Given the description of an element on the screen output the (x, y) to click on. 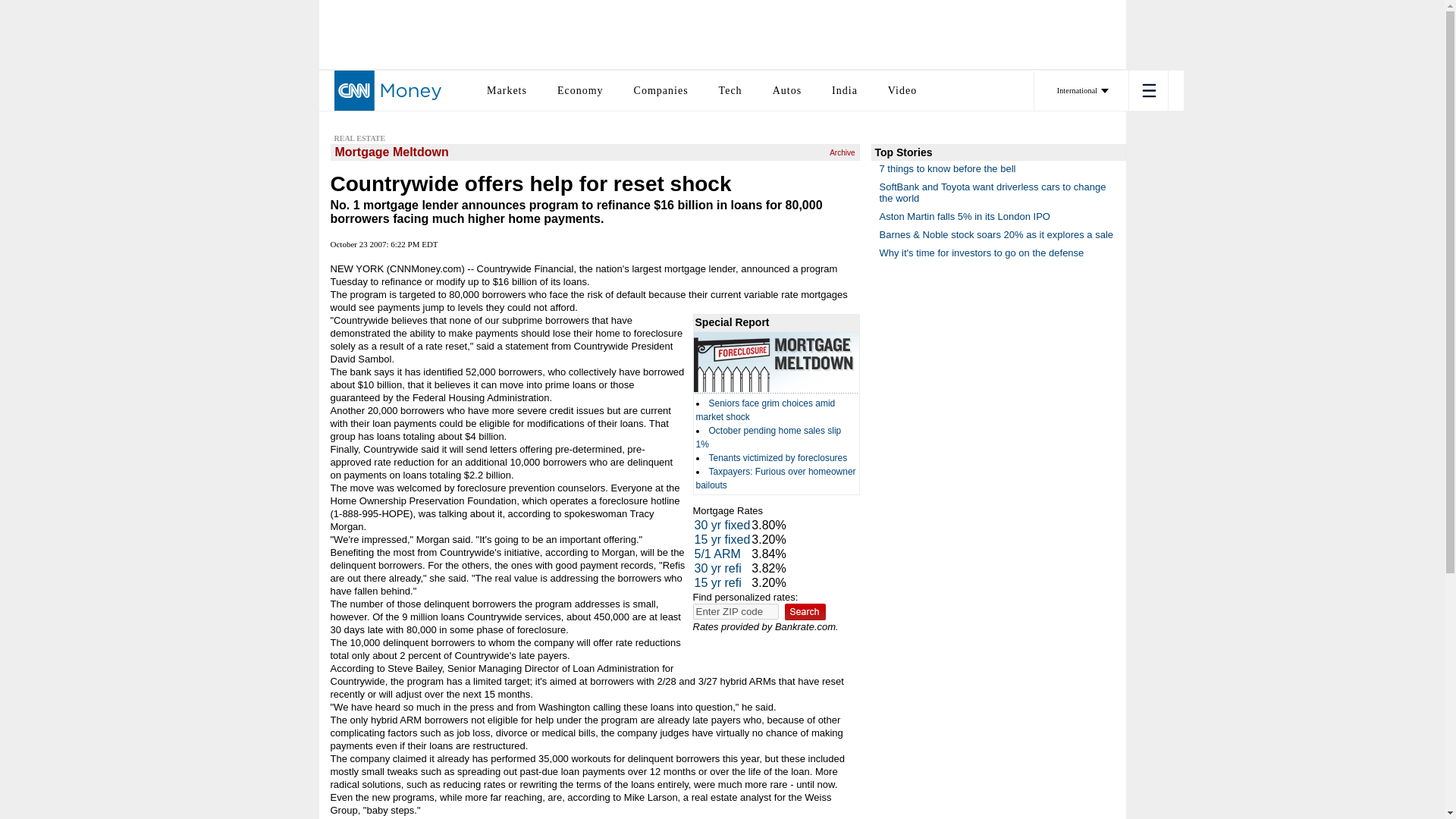
Enter ZIP code (735, 611)
Autos (787, 89)
Tech (730, 89)
Video (902, 89)
Companies (660, 89)
Markets (506, 89)
Economy (580, 89)
India (844, 89)
